Given the description of an element on the screen output the (x, y) to click on. 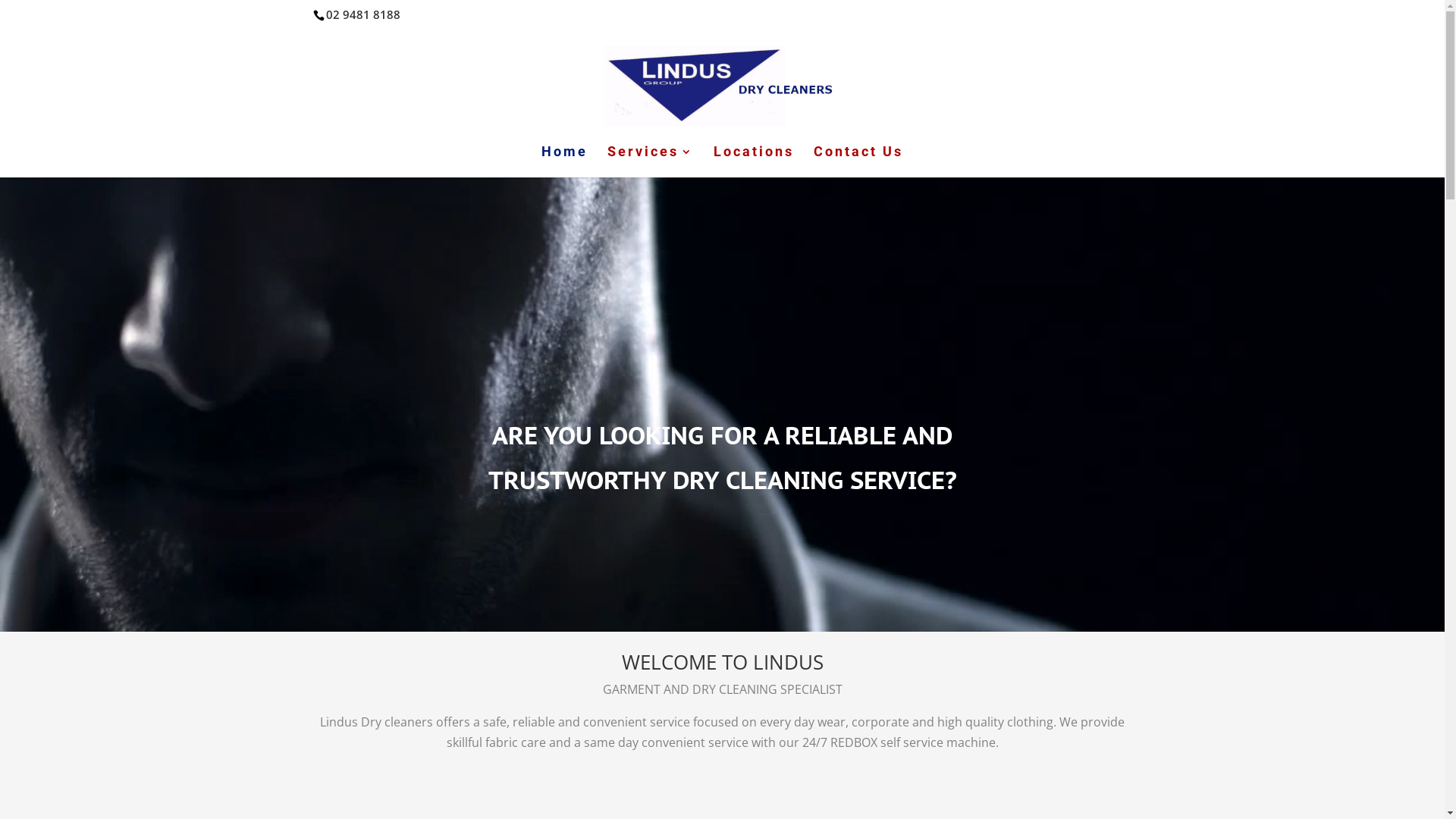
Contact Us Element type: text (858, 160)
Locations Element type: text (753, 160)
02 9481 8188 Element type: text (363, 13)
Home Element type: text (564, 160)
Services Element type: text (650, 160)
02 9481 8188 Element type: text (360, 13)
